Given the description of an element on the screen output the (x, y) to click on. 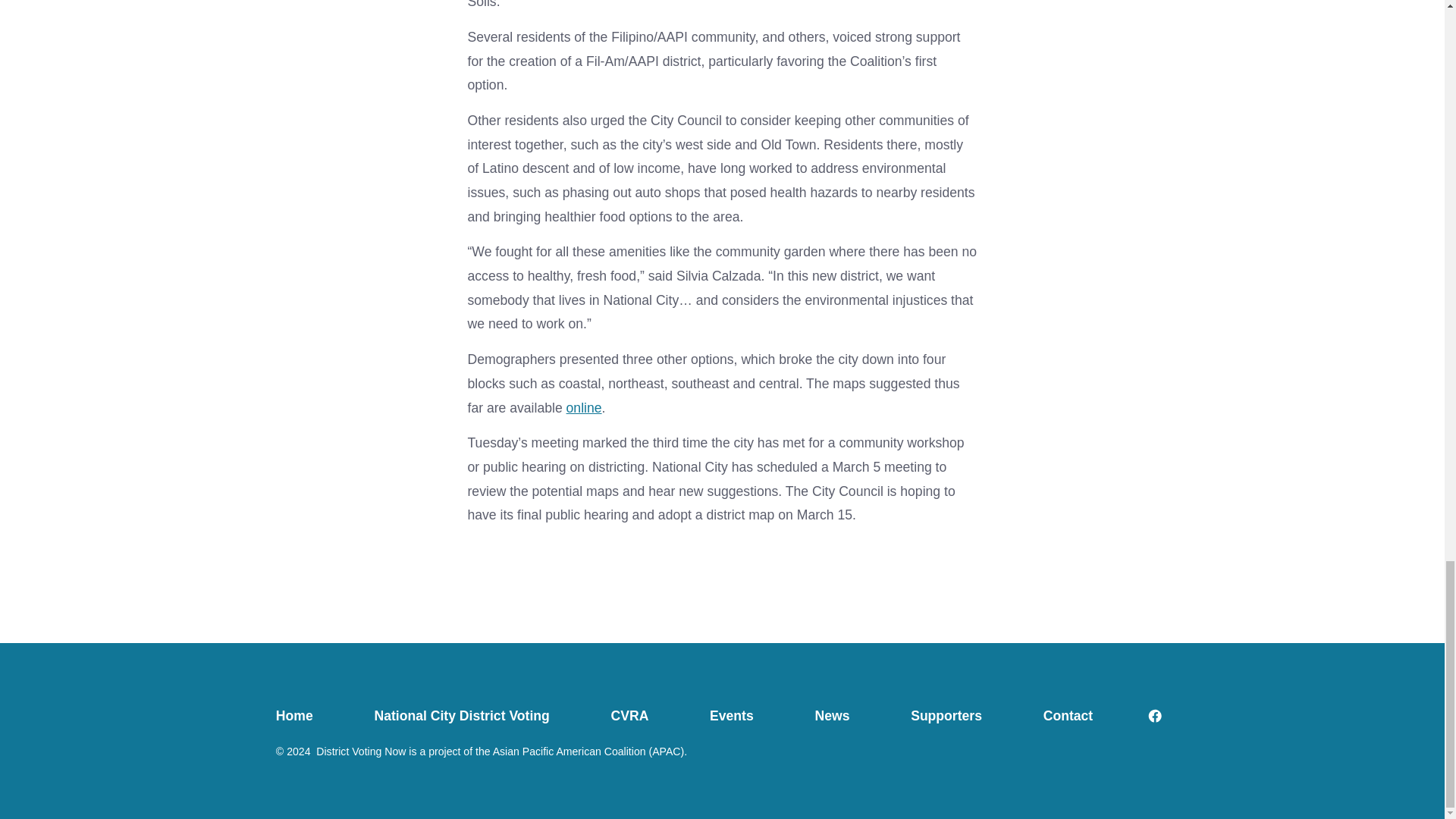
Contact (1067, 716)
National City District Voting (461, 716)
News (832, 716)
Events (732, 716)
Home (309, 716)
Supporters (946, 716)
online (584, 407)
Open Facebook in a new tab (1155, 715)
CVRA (629, 716)
